Given the description of an element on the screen output the (x, y) to click on. 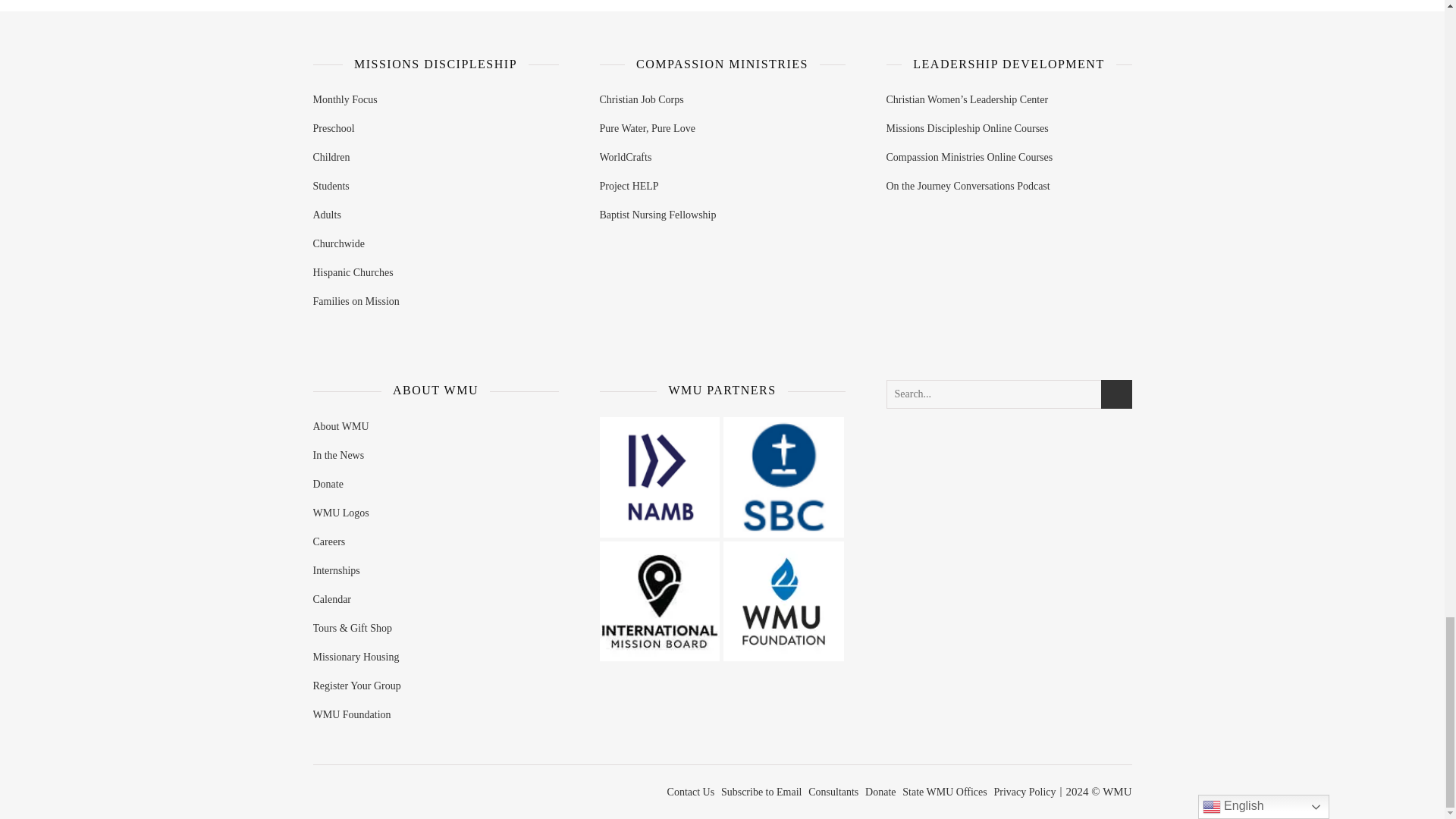
IMB-logo-web-2022 (658, 601)
WMU Logo Variations (783, 601)
namb (658, 476)
